Given the description of an element on the screen output the (x, y) to click on. 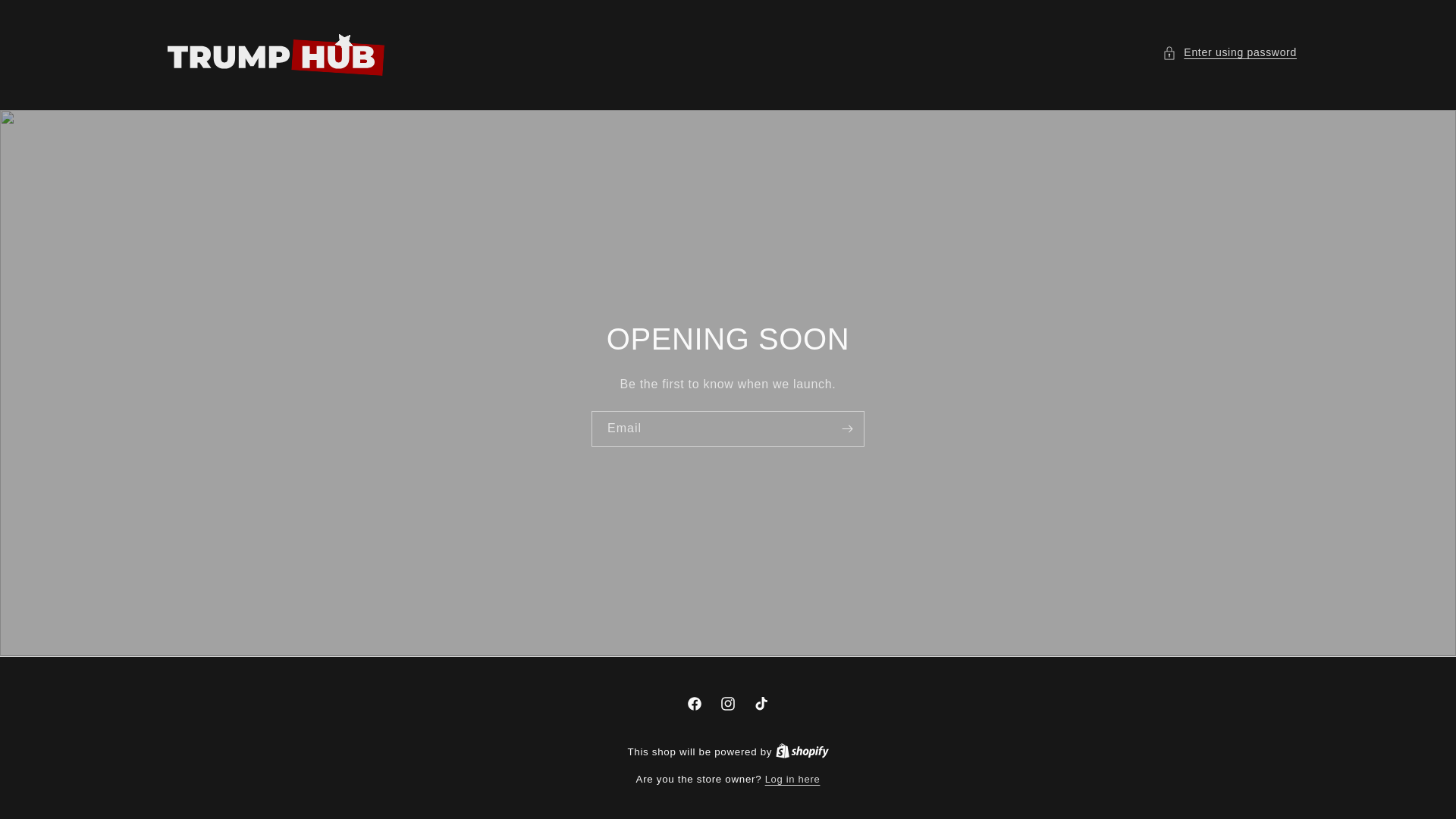
Log in here (793, 779)
TikTok (760, 703)
Instagram (727, 703)
SKIP TO CONTENT (45, 17)
Facebook (694, 703)
